Given the description of an element on the screen output the (x, y) to click on. 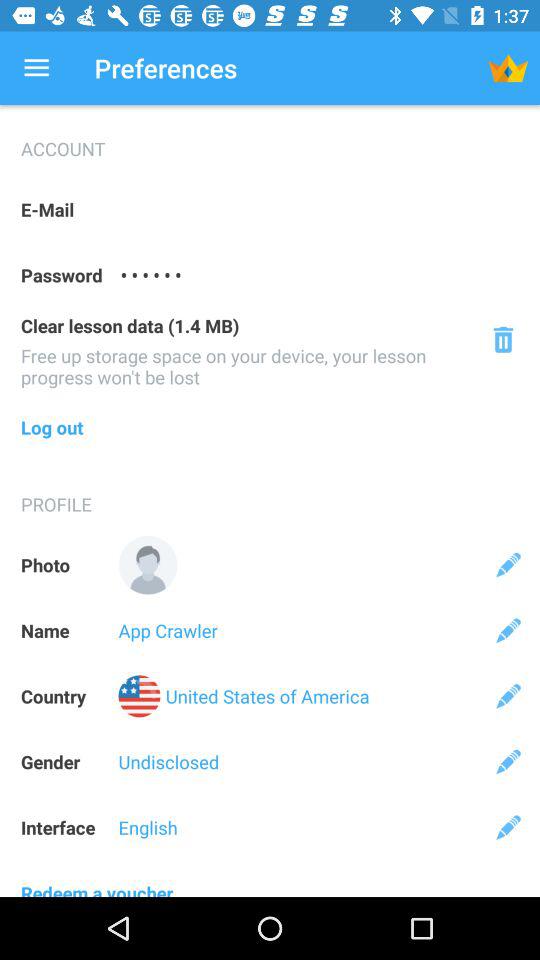
delete storage space (502, 339)
